Given the description of an element on the screen output the (x, y) to click on. 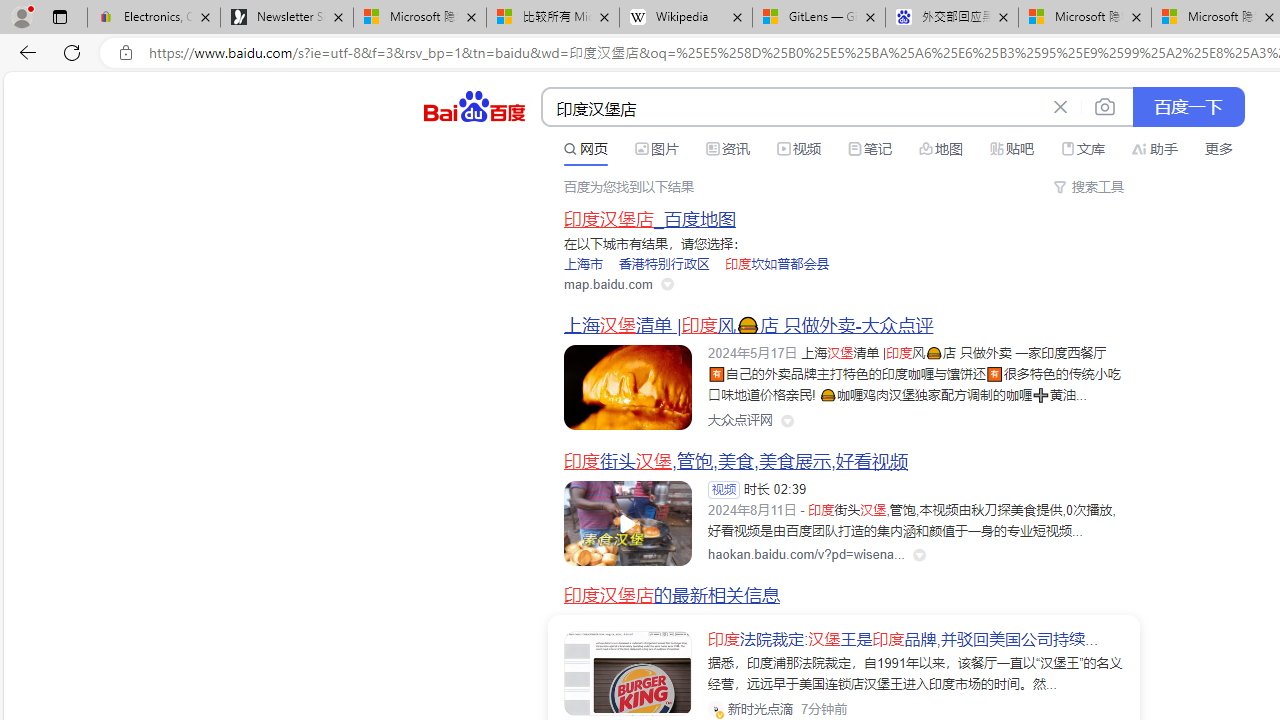
Class: c-img c-img-radius-large (628, 673)
AutomationID: kw (793, 107)
